Given the description of an element on the screen output the (x, y) to click on. 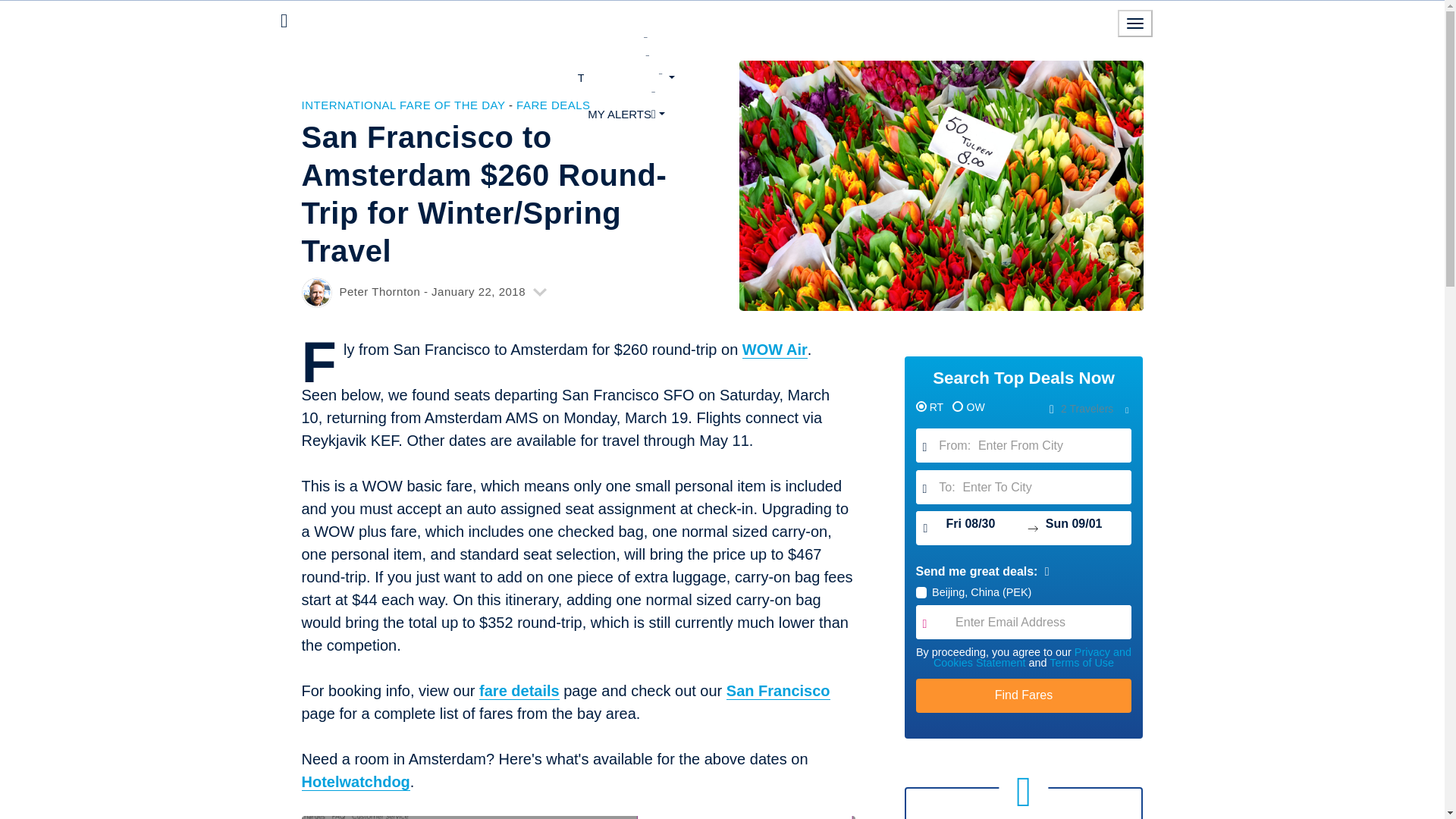
Toggle navigation (1135, 22)
FLIGHTS (625, 40)
TRAVEL BLOG (626, 77)
AIRLINES (625, 58)
